Given the description of an element on the screen output the (x, y) to click on. 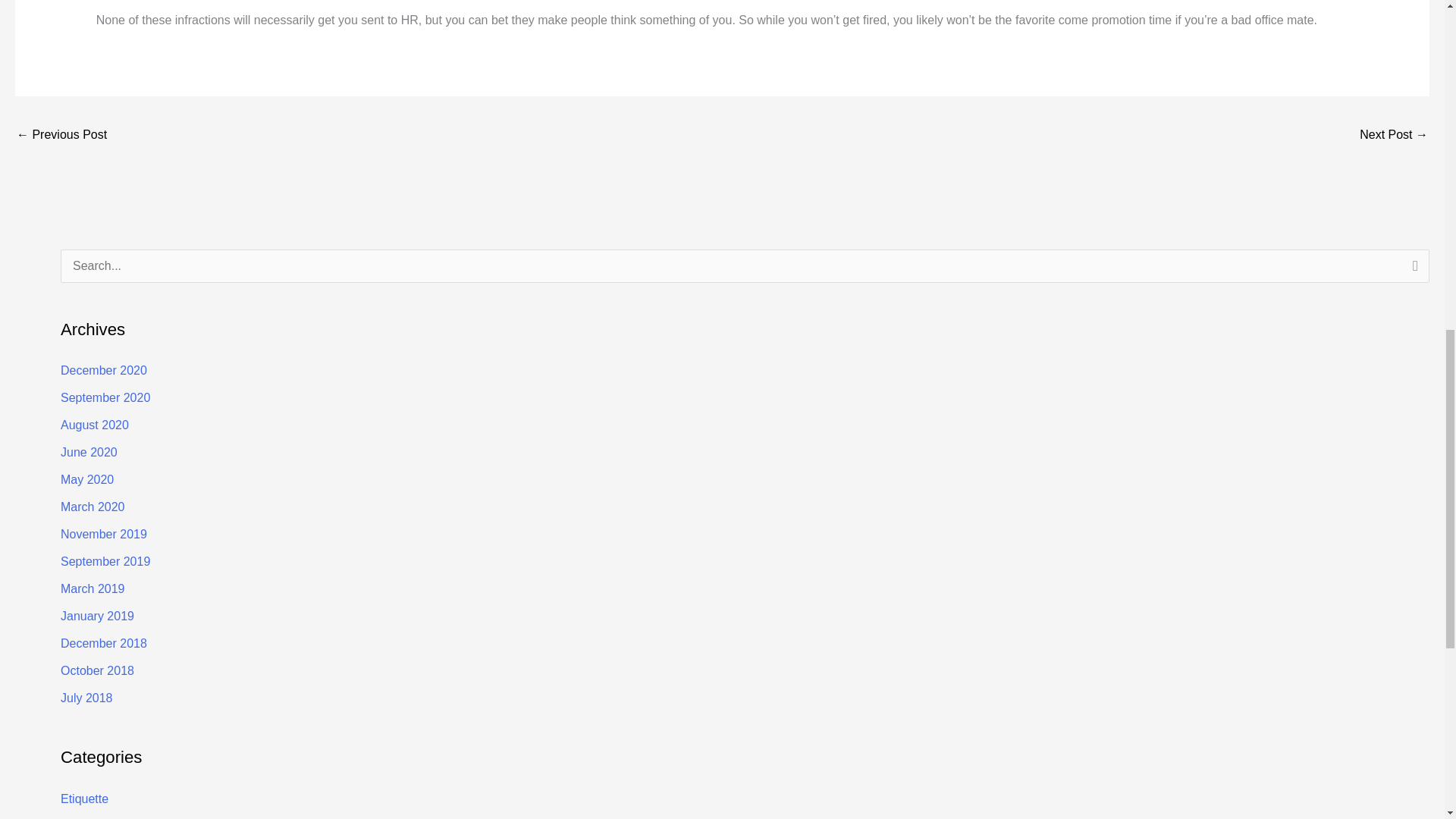
March 2019 (93, 588)
July 2018 (87, 697)
December 2018 (104, 643)
October 2018 (97, 670)
September 2020 (105, 397)
December 2020 (104, 369)
August 2020 (95, 424)
September 2019 (105, 561)
Etiquette (84, 797)
